Given the description of an element on the screen output the (x, y) to click on. 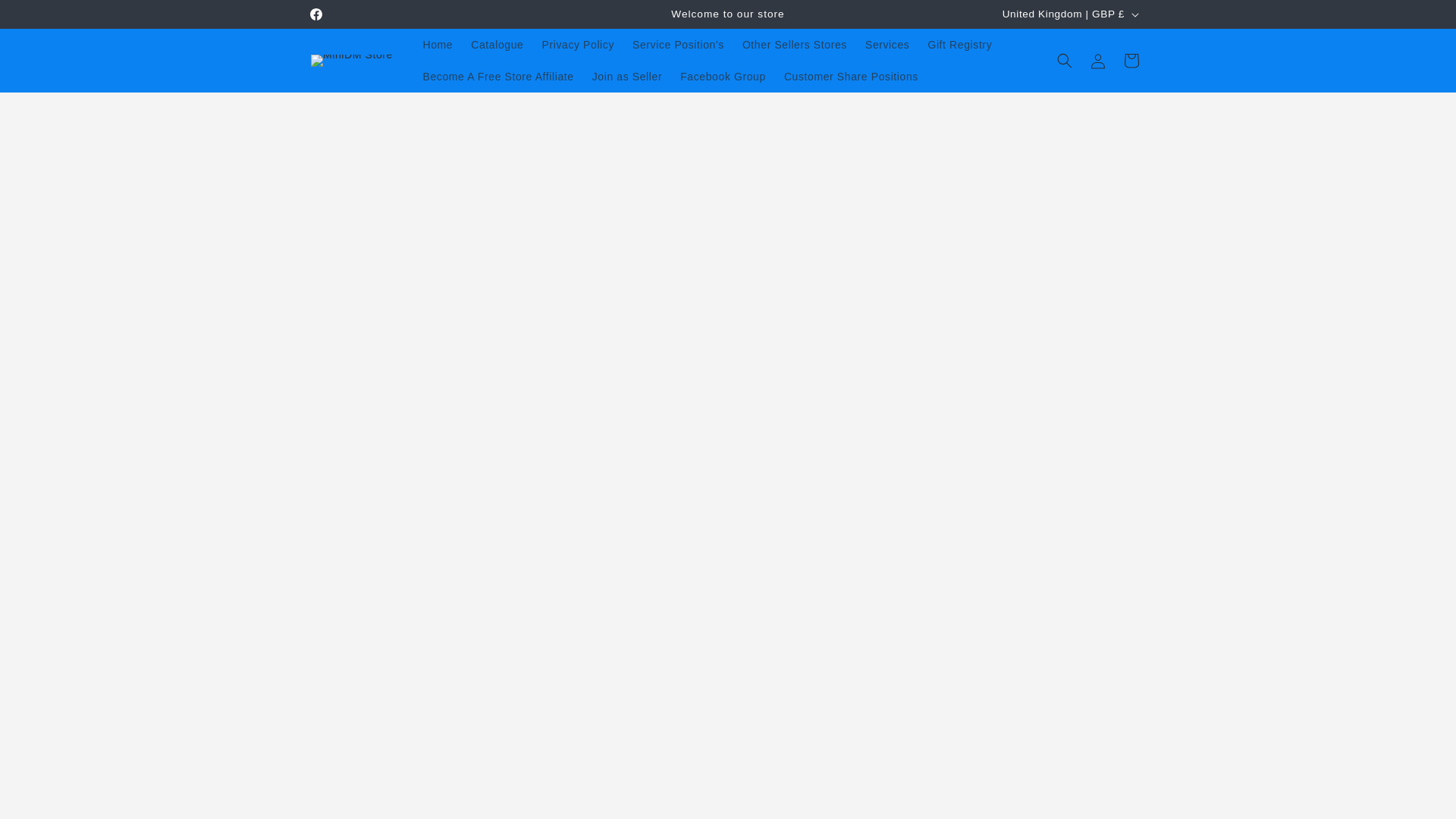
Gift Registry (959, 44)
Catalogue (496, 44)
Join as Seller (627, 76)
Service Position's (678, 44)
Cart (1131, 60)
Facebook Group (722, 76)
Become A Free Store Affiliate (498, 76)
Privacy Policy (577, 44)
Log in (1098, 60)
Customer Share Positions (850, 76)
